Given the description of an element on the screen output the (x, y) to click on. 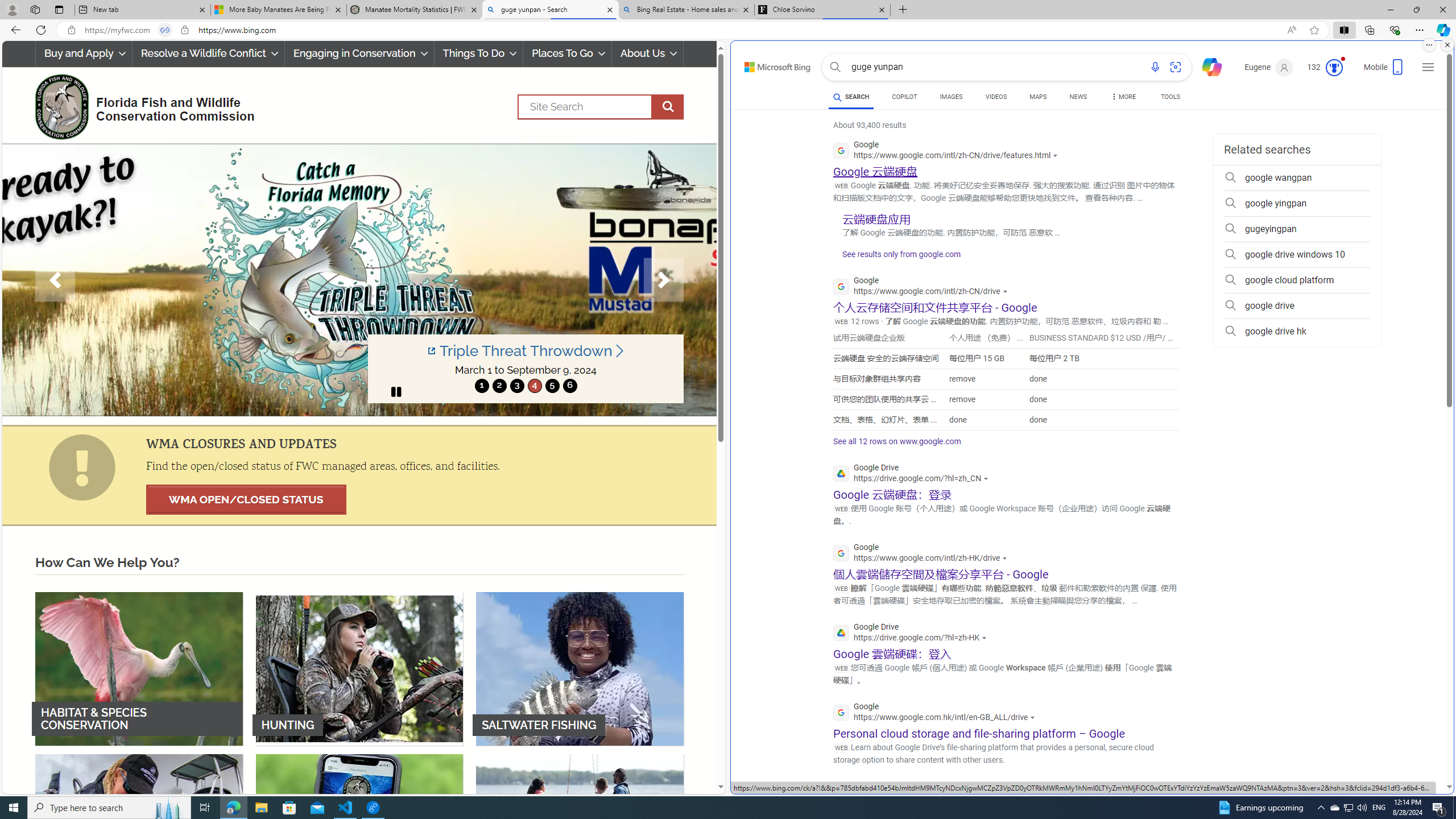
Class: medal-svg-animation (1333, 67)
Minimize (1390, 9)
google cloud platform (1297, 280)
SEARCH (850, 96)
Settings and more (Alt+F) (1419, 29)
Google Workspace (950, 793)
Things To Do (478, 53)
Search using voice (1154, 66)
NEWS (1078, 98)
Microsoft Rewards 123 (1325, 67)
google drive hk (1297, 331)
Search (835, 66)
AutomationID: mfa_root (1406, 752)
App bar (728, 29)
